Given the description of an element on the screen output the (x, y) to click on. 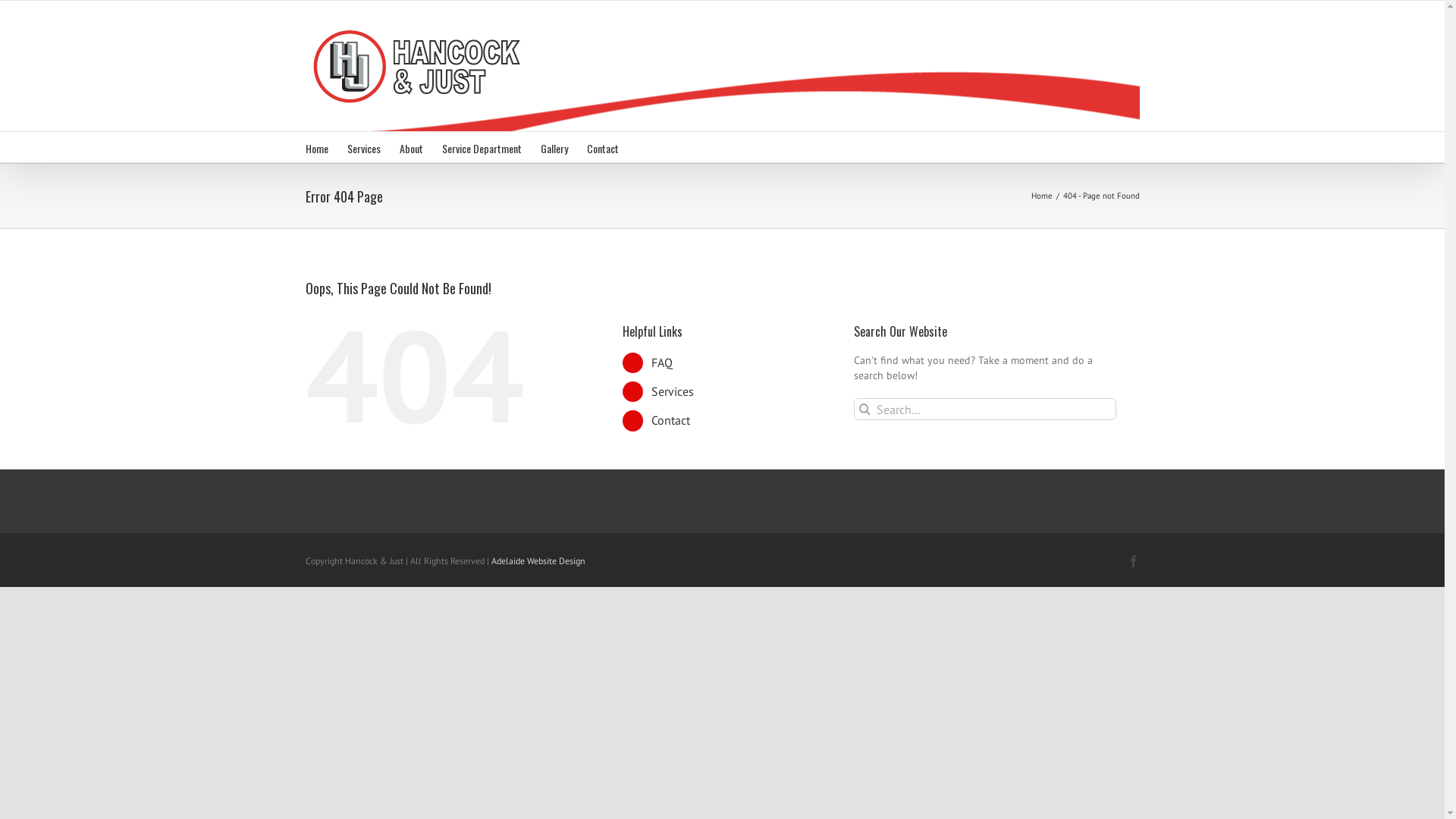
Gallery Element type: text (553, 146)
About Element type: text (410, 146)
Services Element type: text (363, 146)
Home Element type: text (1041, 195)
Contact Element type: text (602, 146)
Home Element type: text (315, 146)
Services Element type: text (672, 390)
Adelaide Website Design Element type: text (538, 560)
Contact Element type: text (670, 419)
facebook Element type: text (1132, 561)
Service Department Element type: text (480, 146)
FAQ Element type: text (661, 362)
